Given the description of an element on the screen output the (x, y) to click on. 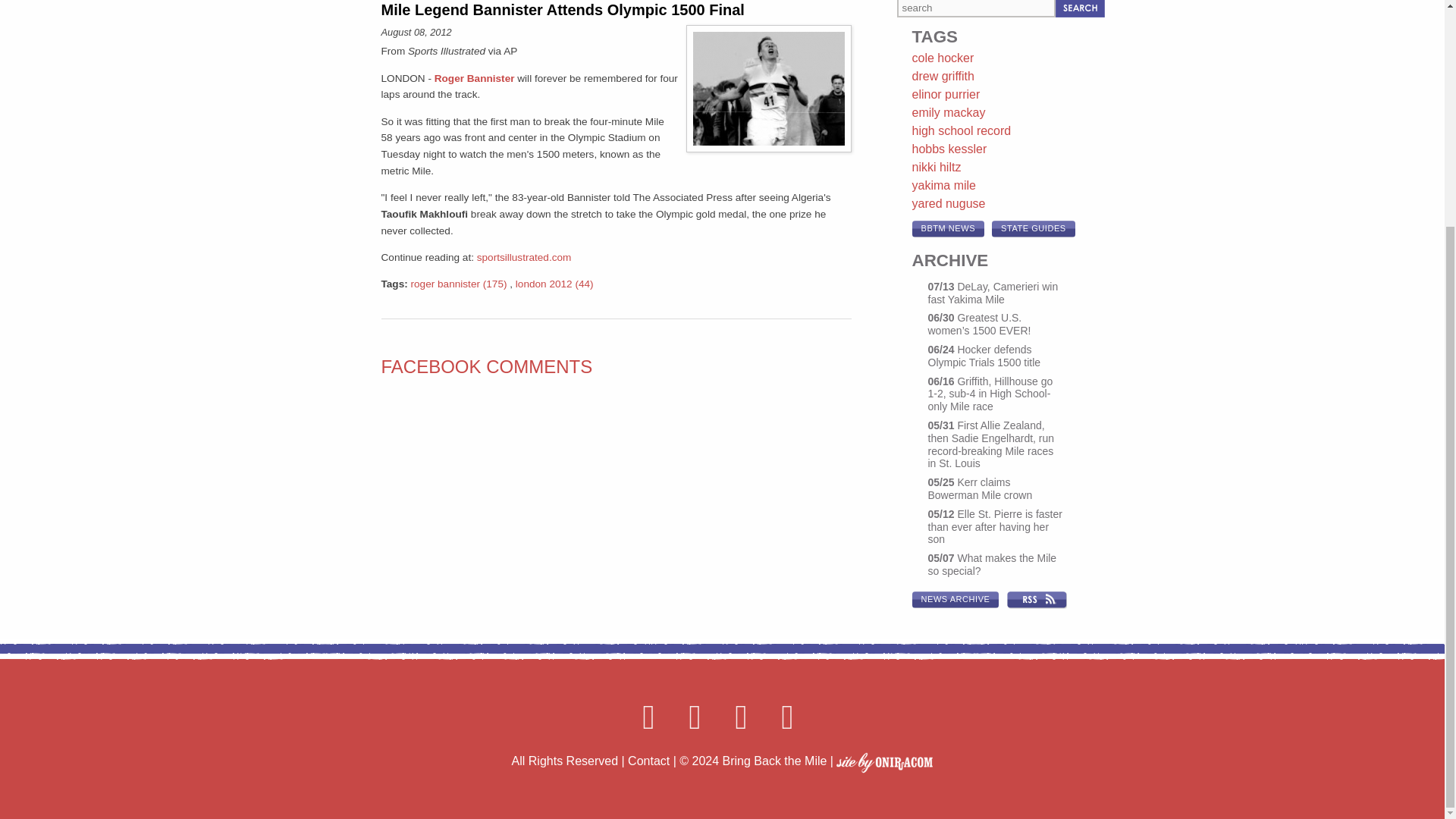
elinor purrier (945, 93)
drew griffith (942, 75)
nikki hiltz (935, 166)
drew griffith (942, 75)
high school record (960, 130)
BBTM NEWS (947, 228)
elinor purrier (945, 93)
Search (1080, 8)
yakima mile (943, 185)
Search (1080, 8)
STATE GUIDES (1033, 228)
Search (1080, 8)
sportsillustrated.com (524, 256)
Roger Bannister (474, 78)
cole hocker (942, 57)
